Given the description of an element on the screen output the (x, y) to click on. 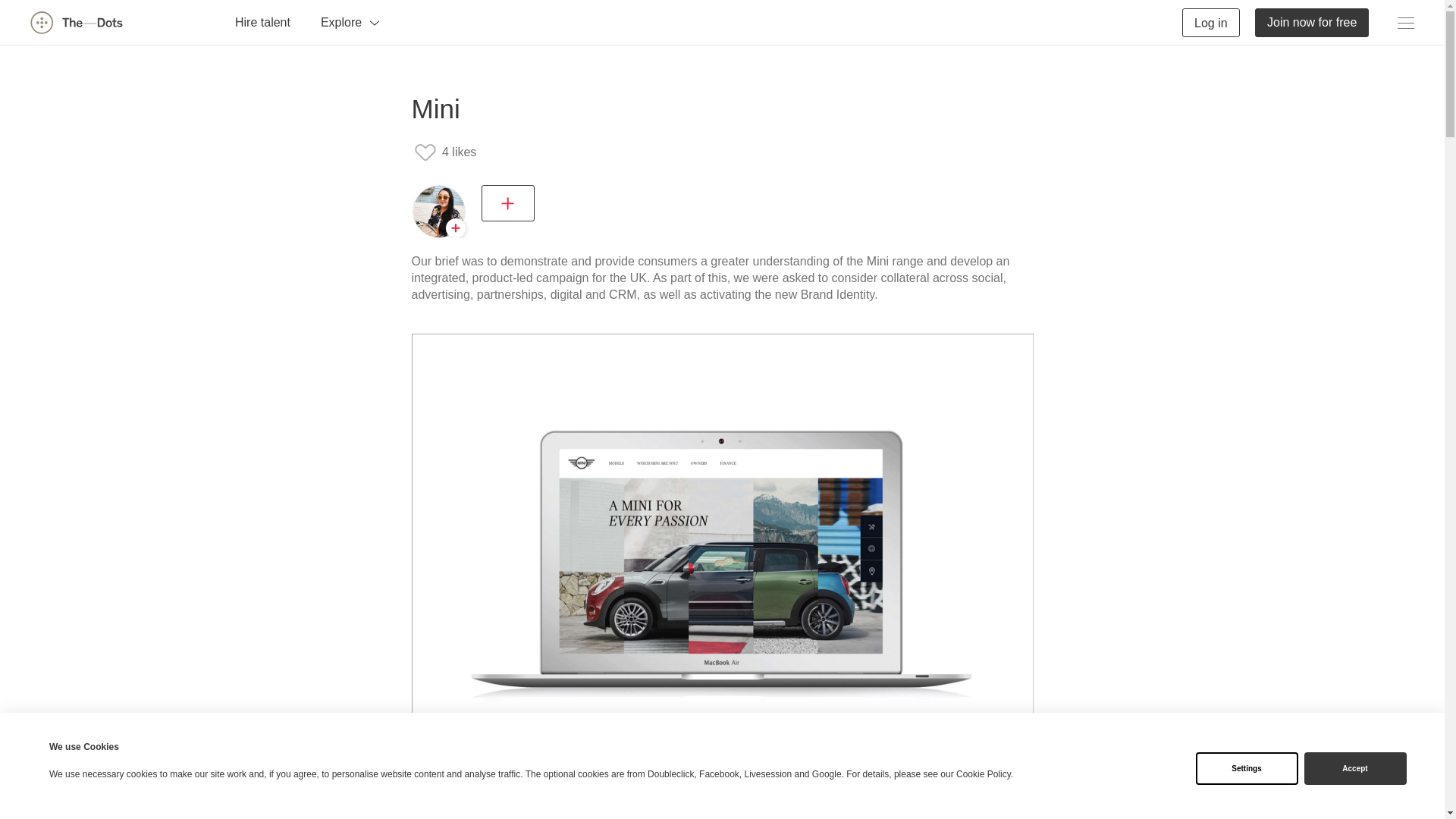
Explore (350, 21)
Log in (1211, 21)
Hire talent (261, 21)
Join now for free (1311, 21)
4 likes (444, 152)
